Given the description of an element on the screen output the (x, y) to click on. 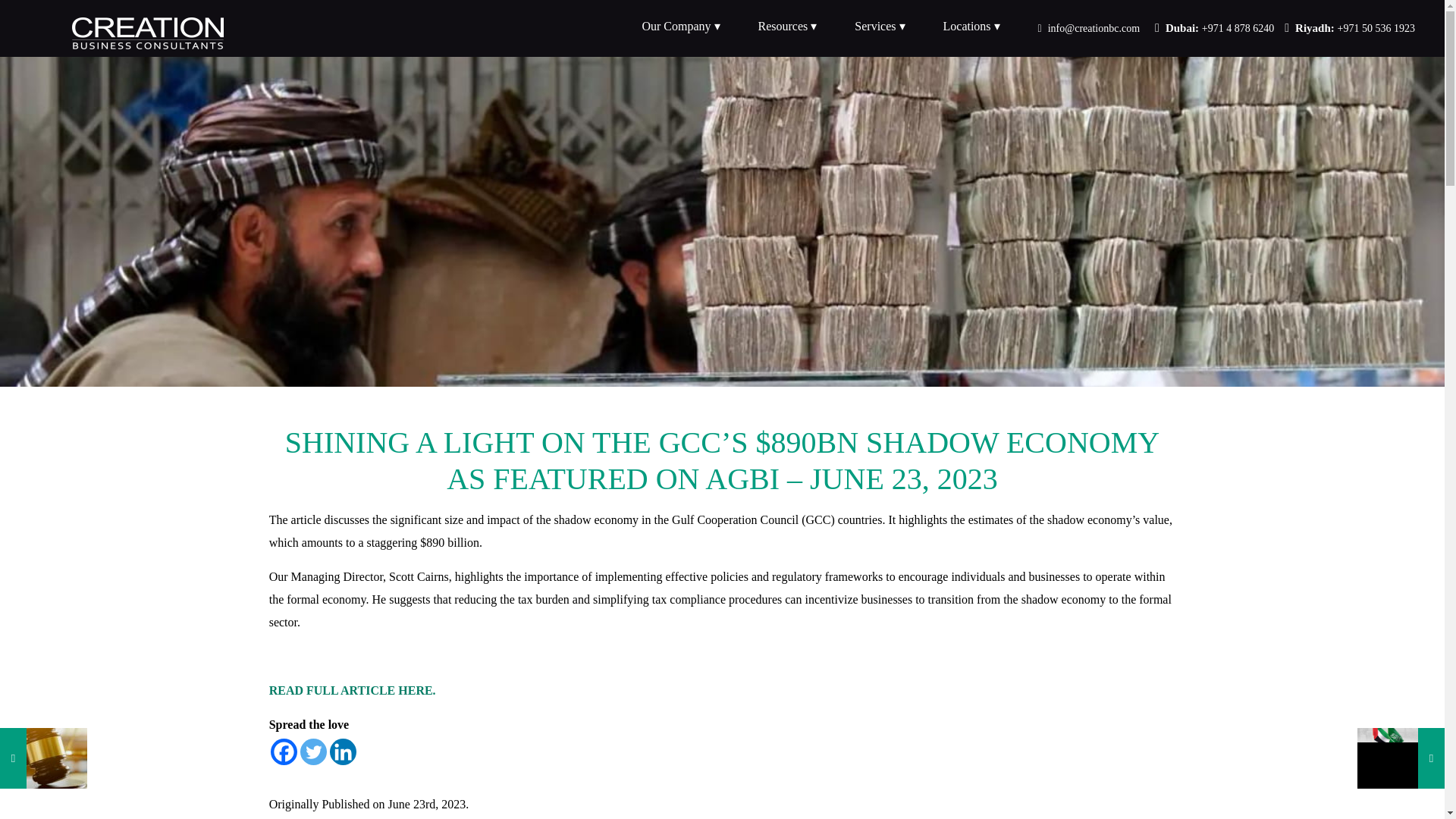
Twitter (312, 751)
Linkedin (343, 751)
Twitter (1146, 23)
Resources (787, 26)
LinkedIn (1166, 23)
Facebook (1126, 23)
Our Company (680, 26)
Facebook (283, 751)
Creation Business Consultants (205, 30)
Services (879, 26)
